Given the description of an element on the screen output the (x, y) to click on. 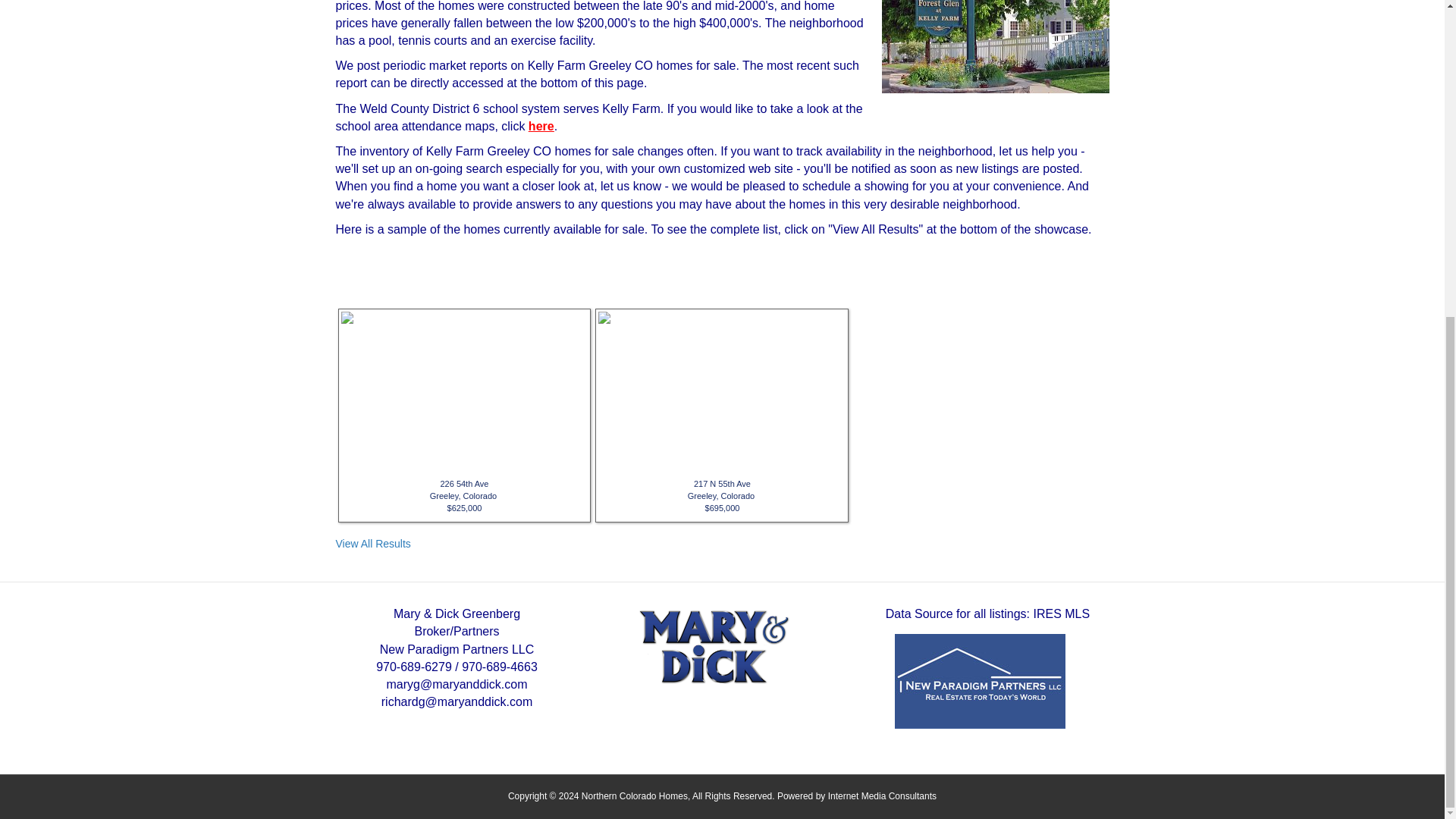
here (541, 125)
WordPress Web Design (882, 796)
Internet Media Consultants (882, 796)
View All Results (372, 543)
